Given the description of an element on the screen output the (x, y) to click on. 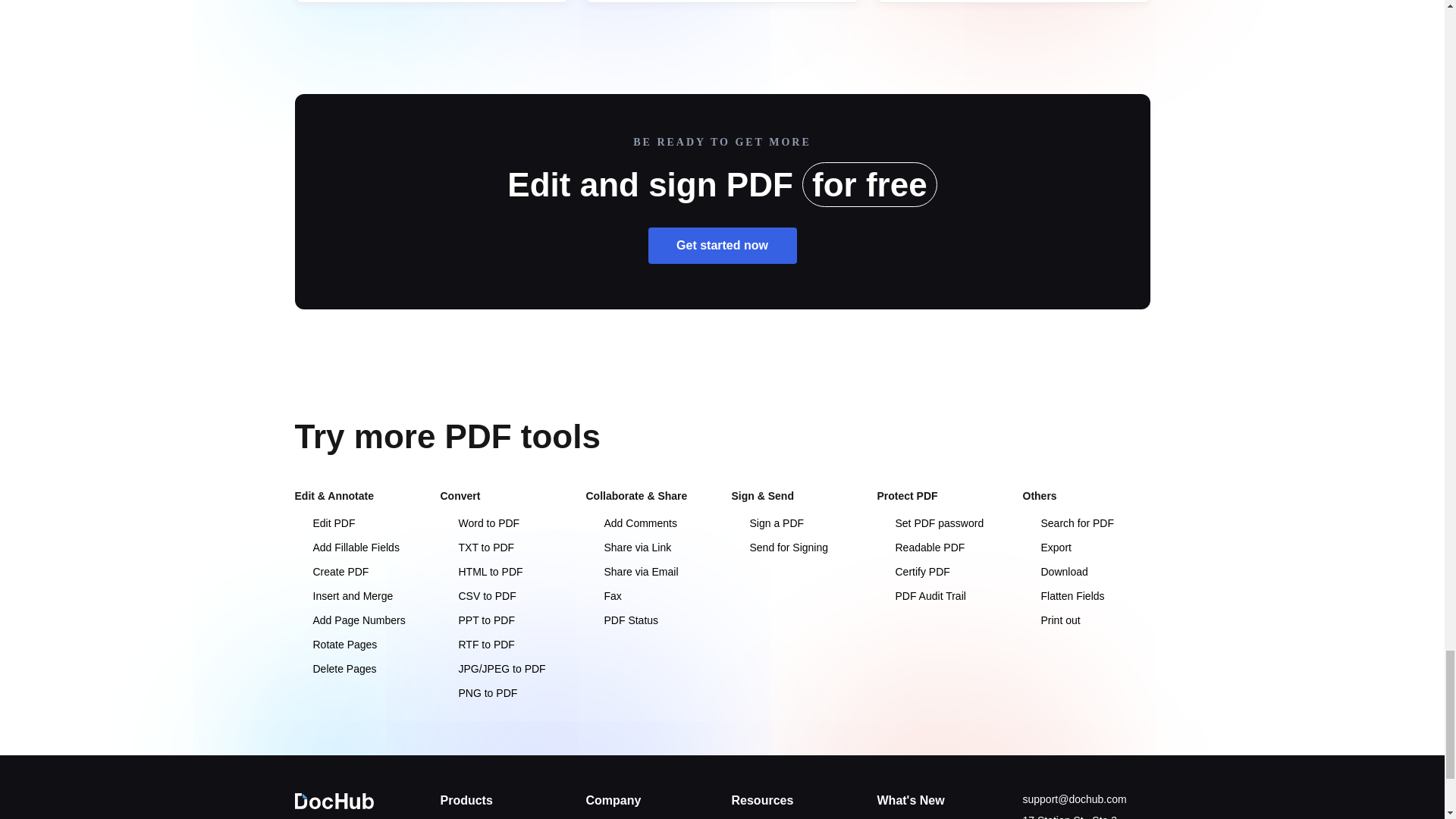
Insert and Merge (343, 595)
Add Fillable Fields (346, 547)
PDF Status (621, 620)
Edit PDF (324, 522)
TXT to PDF (476, 547)
Get started now (721, 245)
Rotate Pages (335, 644)
CSV to PDF (477, 595)
Create PDF (331, 571)
HTML to PDF (480, 571)
Delete Pages (334, 668)
Fax (603, 595)
Share via Link (628, 547)
PPT to PDF (476, 620)
Word to PDF (479, 522)
